Given the description of an element on the screen output the (x, y) to click on. 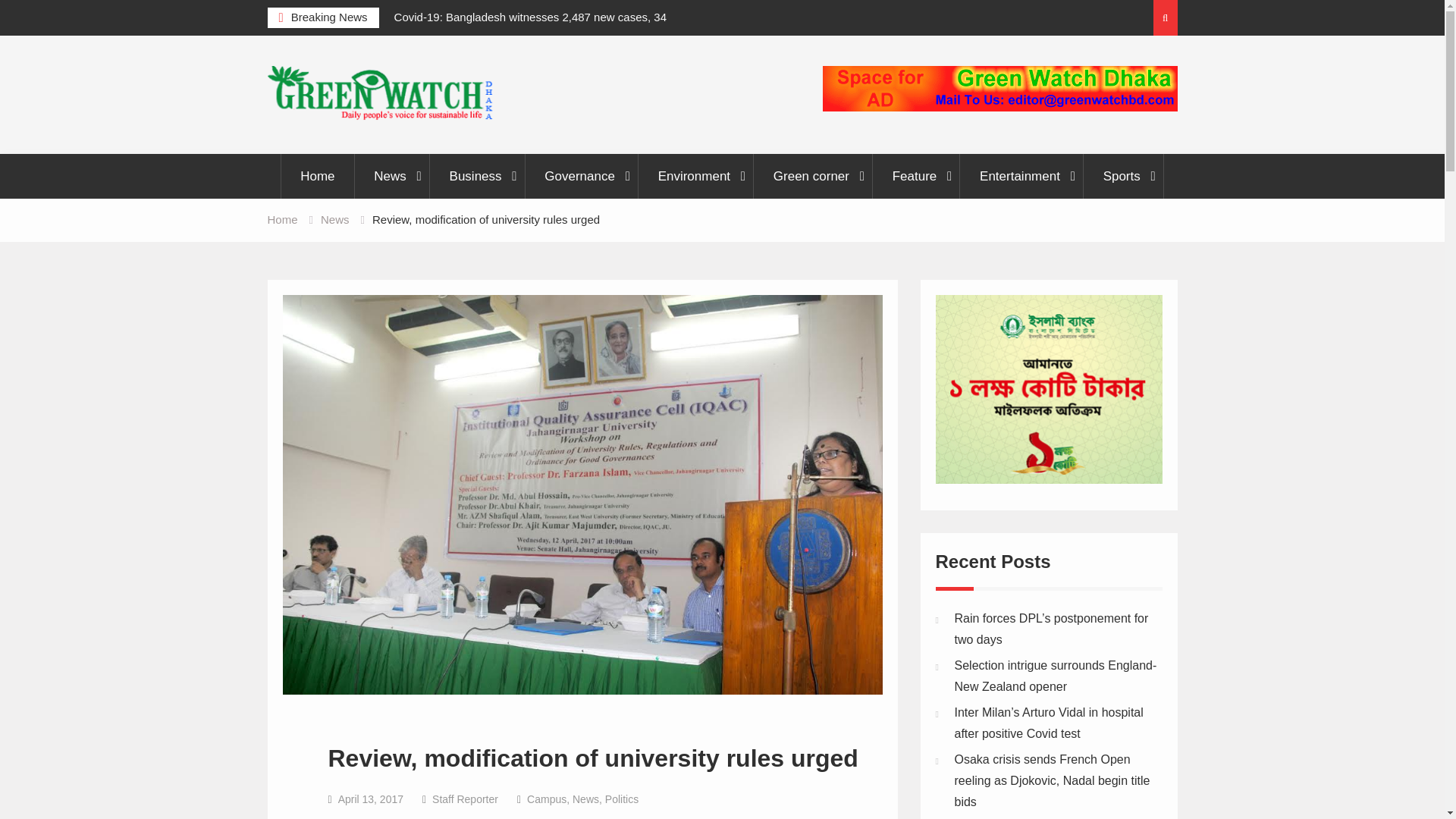
Ignoring protocol, Hasina welcomes Bhutan PM at airport (243, 27)
